Given the description of an element on the screen output the (x, y) to click on. 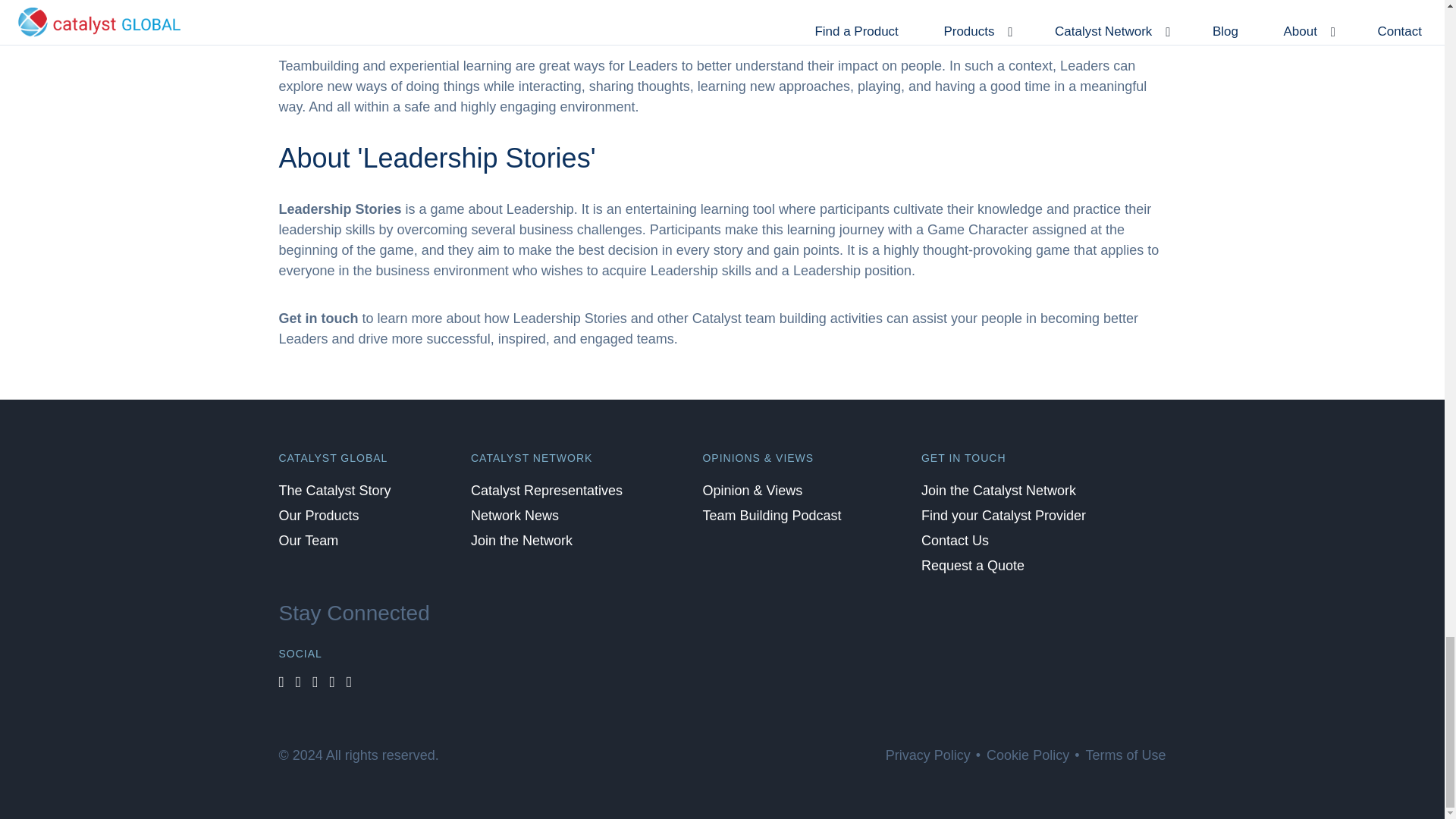
Network News (525, 515)
The Catalyst Story (346, 490)
Our Products (330, 515)
Team Building Podcast (782, 515)
Join the Catalyst Network (1010, 490)
Join the Network (532, 540)
Privacy Policy (928, 754)
Contact Us (966, 540)
Catalyst Representatives (557, 490)
Leadership Stories (340, 209)
